Given the description of an element on the screen output the (x, y) to click on. 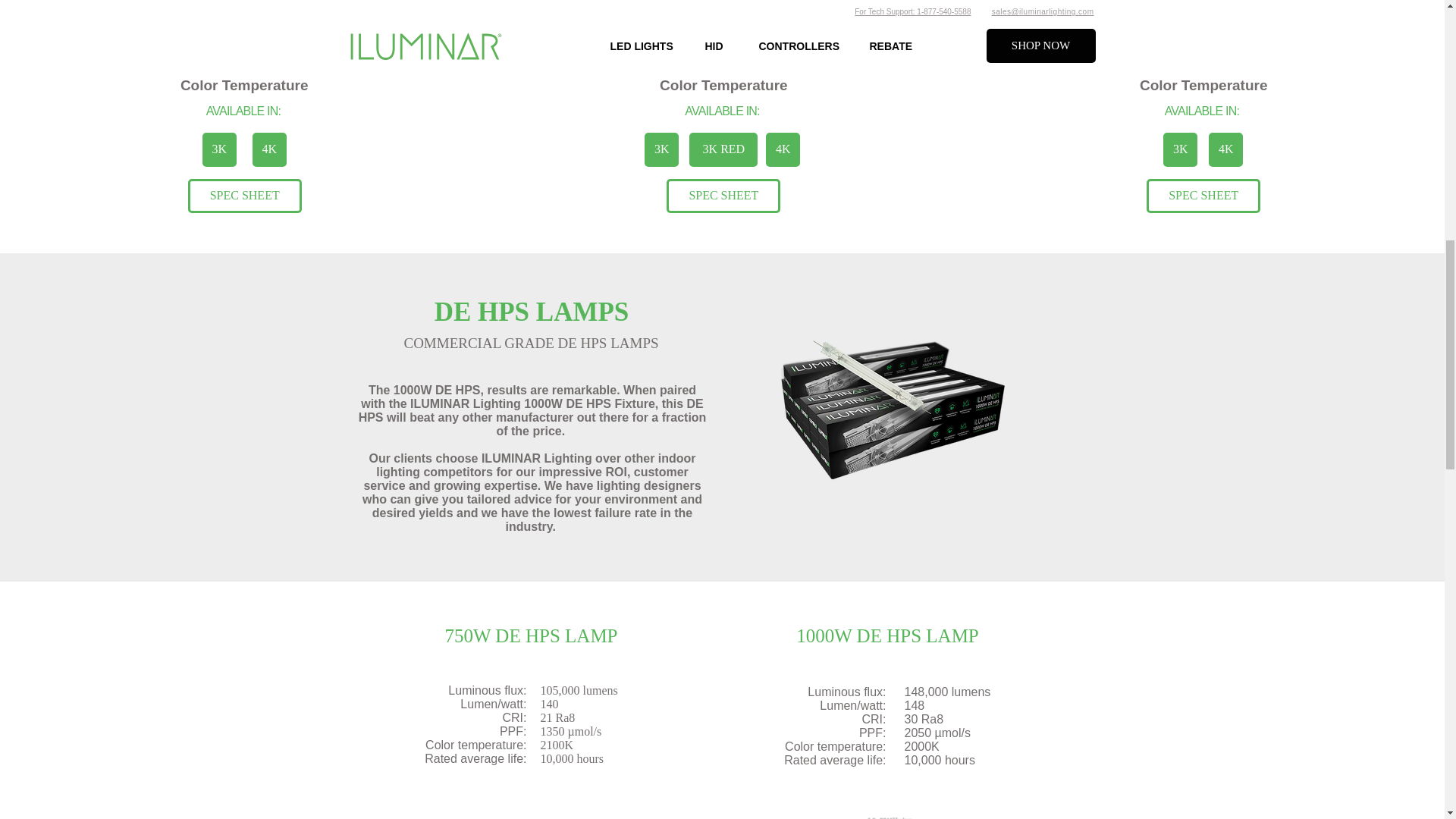
4K (1225, 149)
3K (661, 149)
3K (1179, 149)
SPEC SHEET (1203, 195)
3K (218, 149)
4K (782, 149)
4K (268, 149)
3K RED (722, 149)
SPEC SHEET (244, 195)
SPEC SHEET (723, 195)
